Given the description of an element on the screen output the (x, y) to click on. 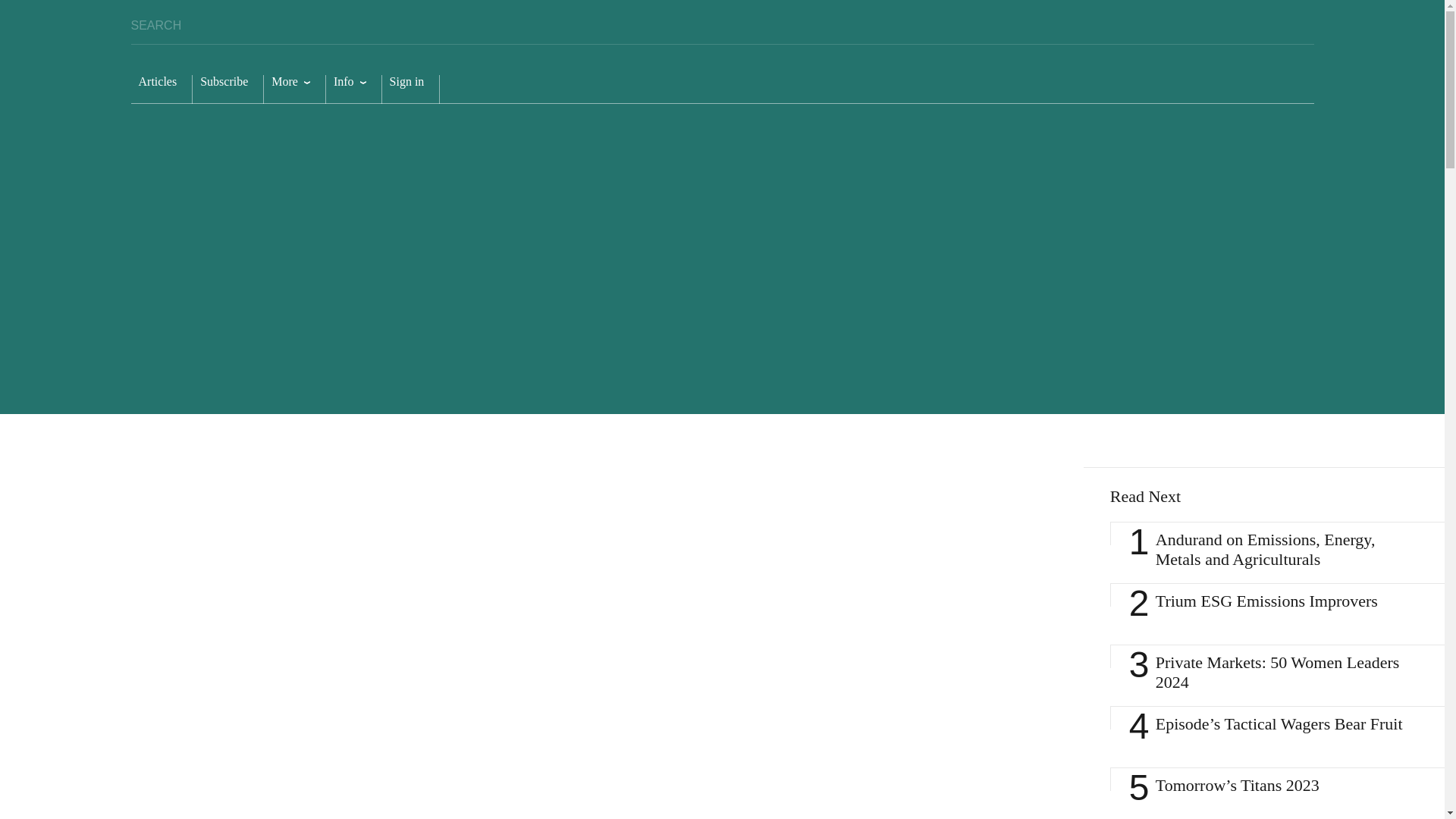
The Hedge Fund Journal (1184, 76)
Subscribe (227, 89)
More (293, 89)
Articles (161, 89)
Sign in (410, 89)
Info (353, 89)
Sign in (410, 89)
